Given the description of an element on the screen output the (x, y) to click on. 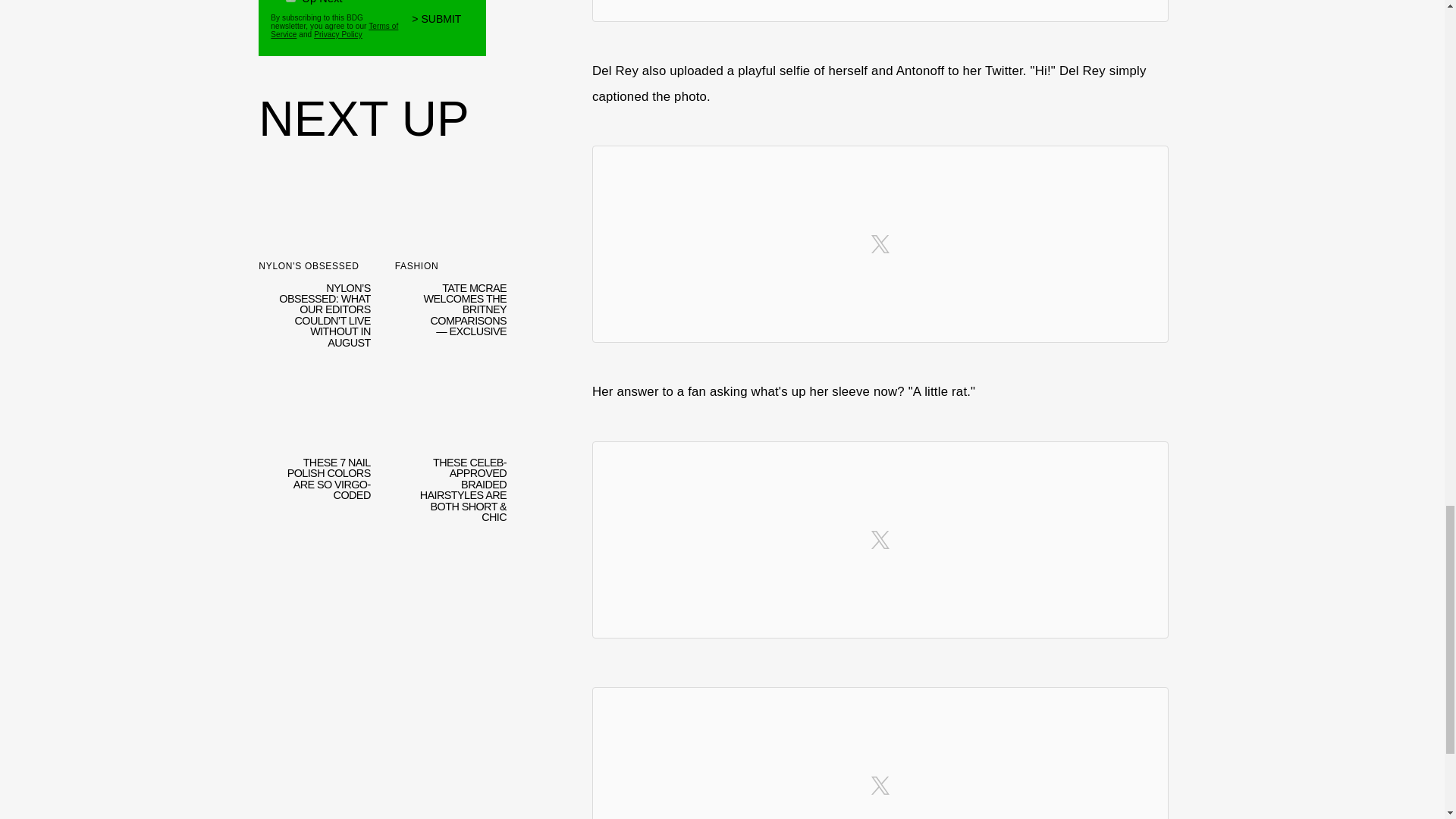
Privacy Policy (338, 34)
Terms of Service (333, 30)
SUBMIT (443, 28)
